Given the description of an element on the screen output the (x, y) to click on. 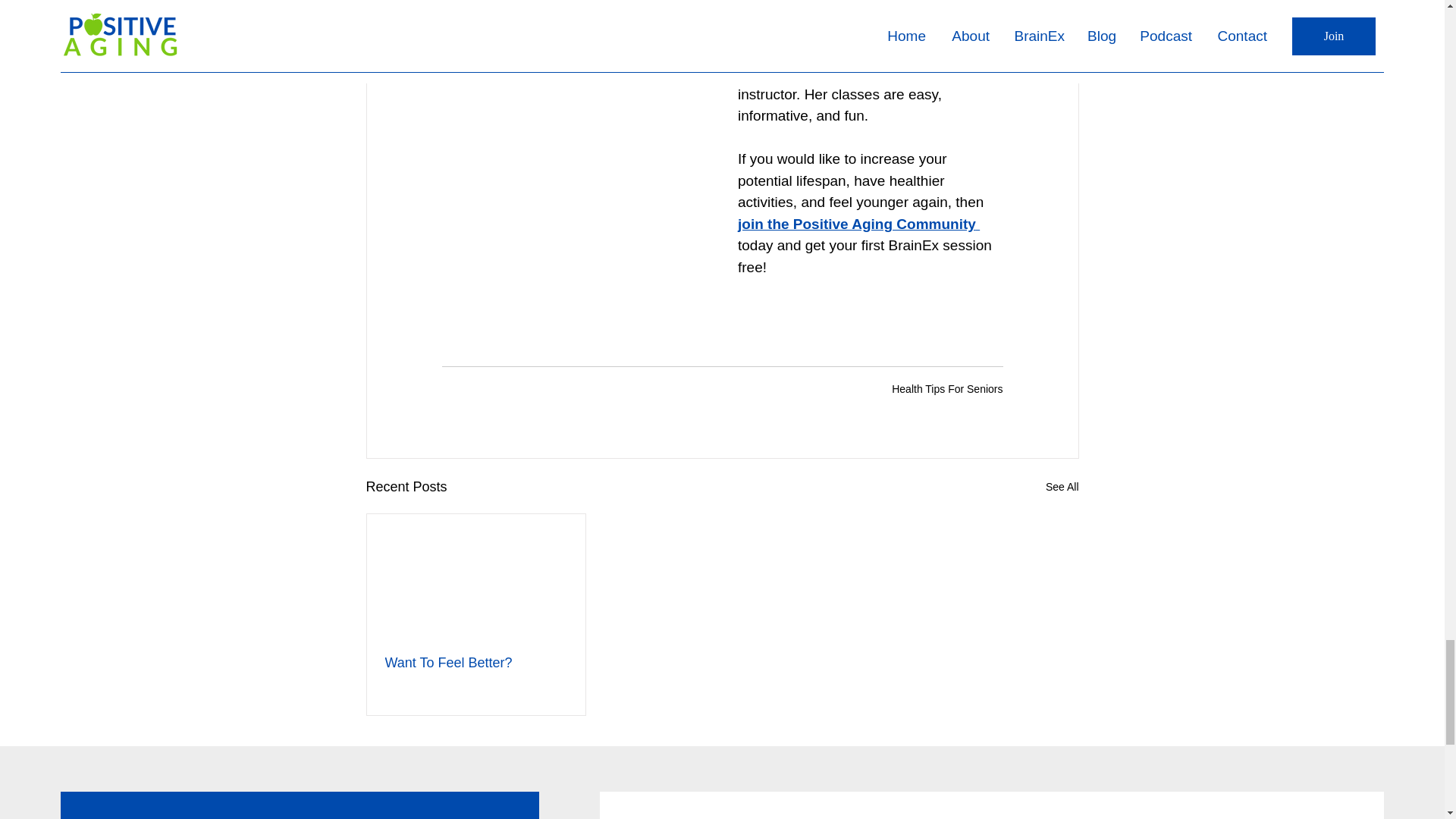
See All (1061, 486)
Want To Feel Better? (476, 662)
join the Positive Aging Community (855, 223)
Health Tips For Seniors (947, 388)
